Given the description of an element on the screen output the (x, y) to click on. 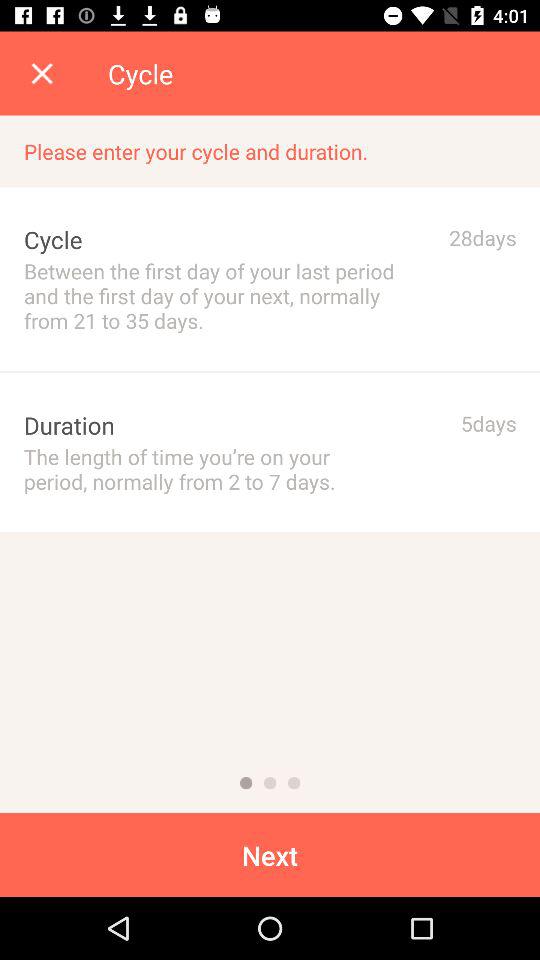
because back devicer (294, 783)
